Given the description of an element on the screen output the (x, y) to click on. 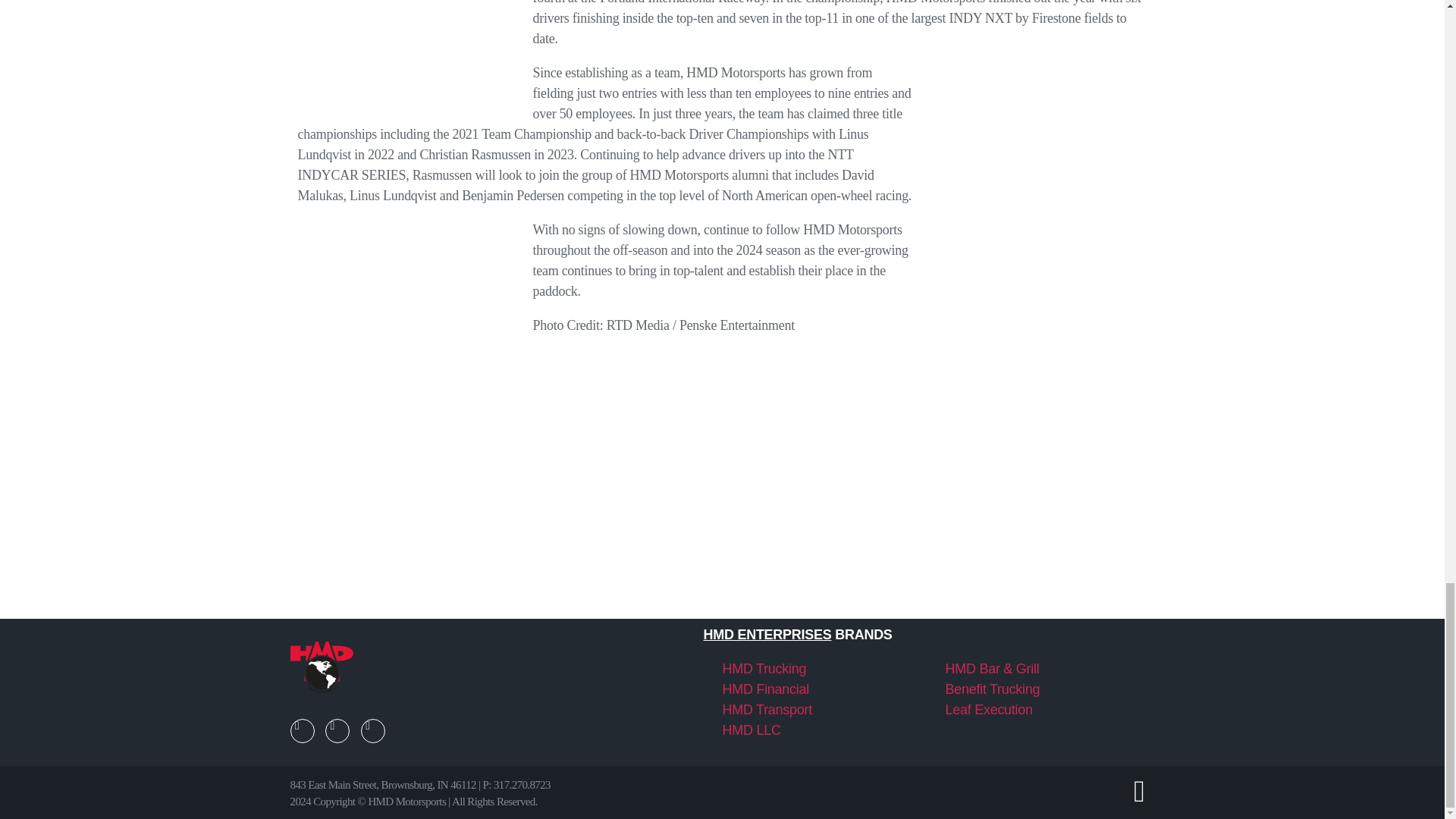
HMD ENTERPRISES (767, 634)
HMD Motorsports Logo Web (320, 668)
HMD Trucking (764, 668)
HMD LLC (751, 729)
HMD Transport (767, 709)
Benefit Trucking (991, 688)
Leaf Execution (988, 709)
HMD Financial (765, 688)
